Given the description of an element on the screen output the (x, y) to click on. 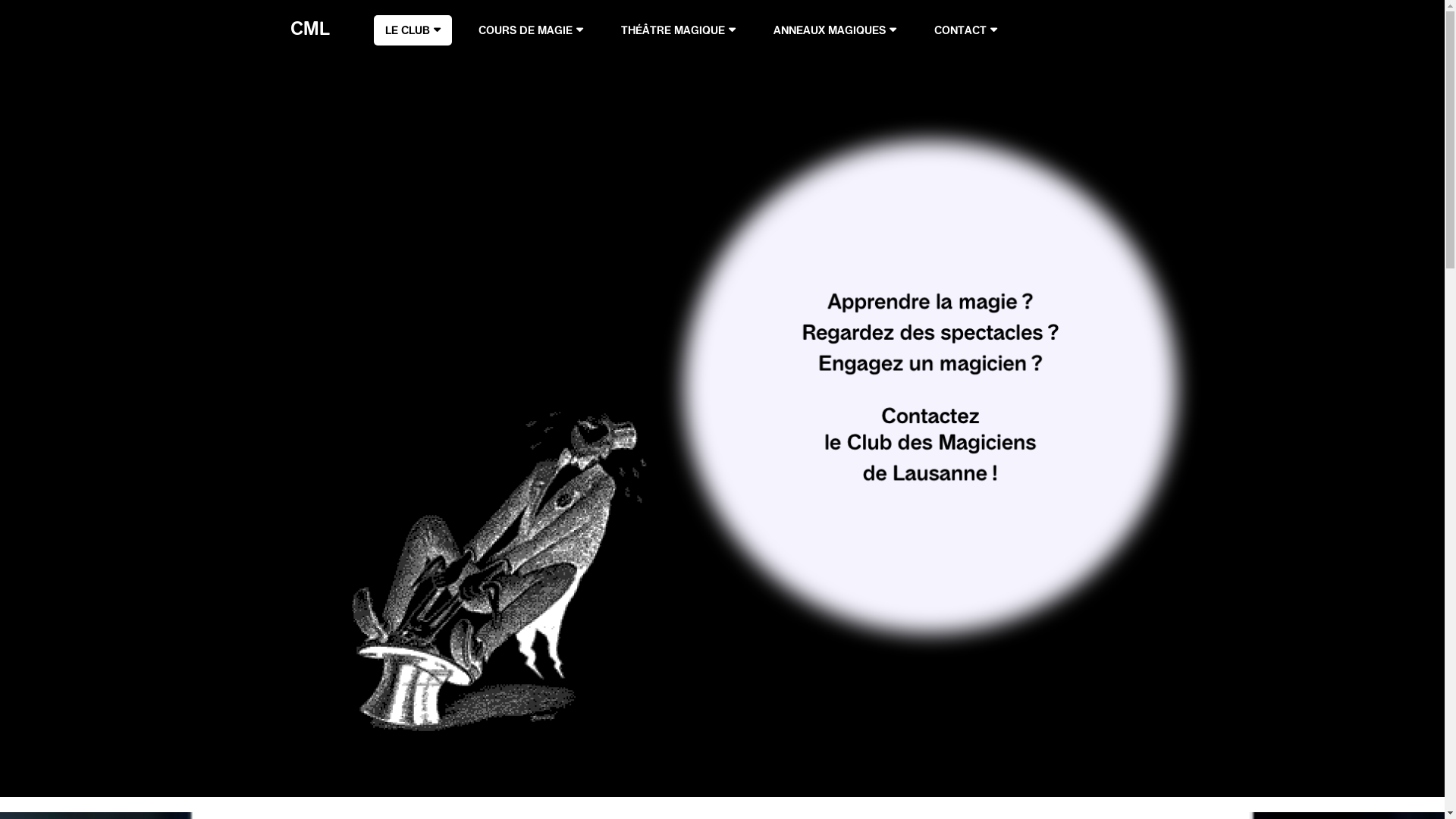
on Element type: text (722, 420)
LE CLUB Element type: text (412, 30)
ANNEAUX MAGIQUES Element type: text (833, 30)
CML Element type: text (304, 45)
CONTACT Element type: text (964, 30)
COURS DE MAGIE Element type: text (530, 30)
